Given the description of an element on the screen output the (x, y) to click on. 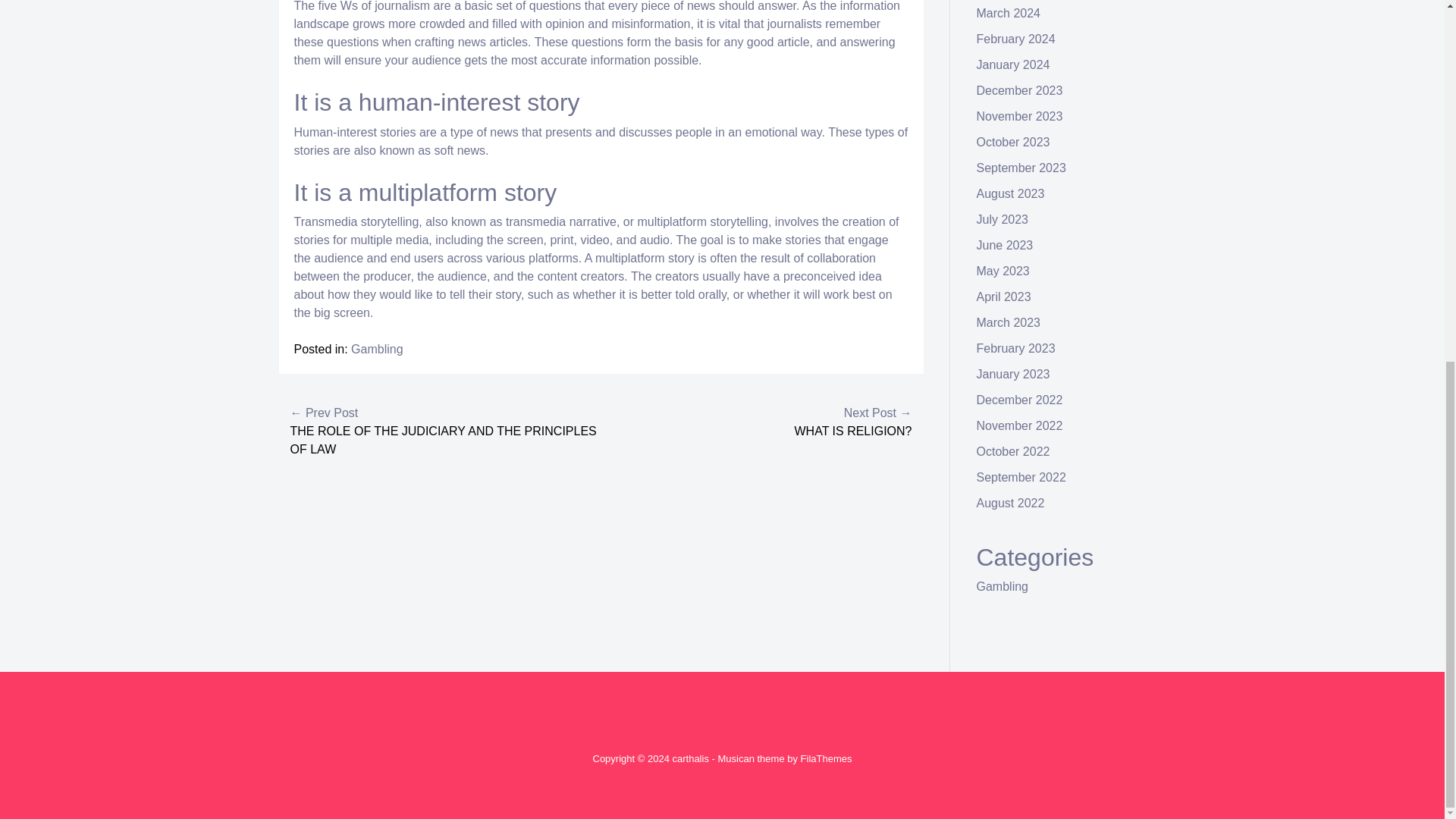
December 2023 (1019, 90)
August 2022 (1010, 502)
July 2023 (1002, 219)
September 2023 (1020, 167)
May 2023 (1002, 270)
Gambling (376, 349)
February 2024 (1015, 38)
August 2023 (1010, 193)
carthalis (689, 758)
January 2024 (1012, 64)
March 2024 (1008, 12)
June 2023 (1004, 245)
January 2023 (1012, 373)
November 2022 (1019, 425)
March 2023 (1008, 322)
